Given the description of an element on the screen output the (x, y) to click on. 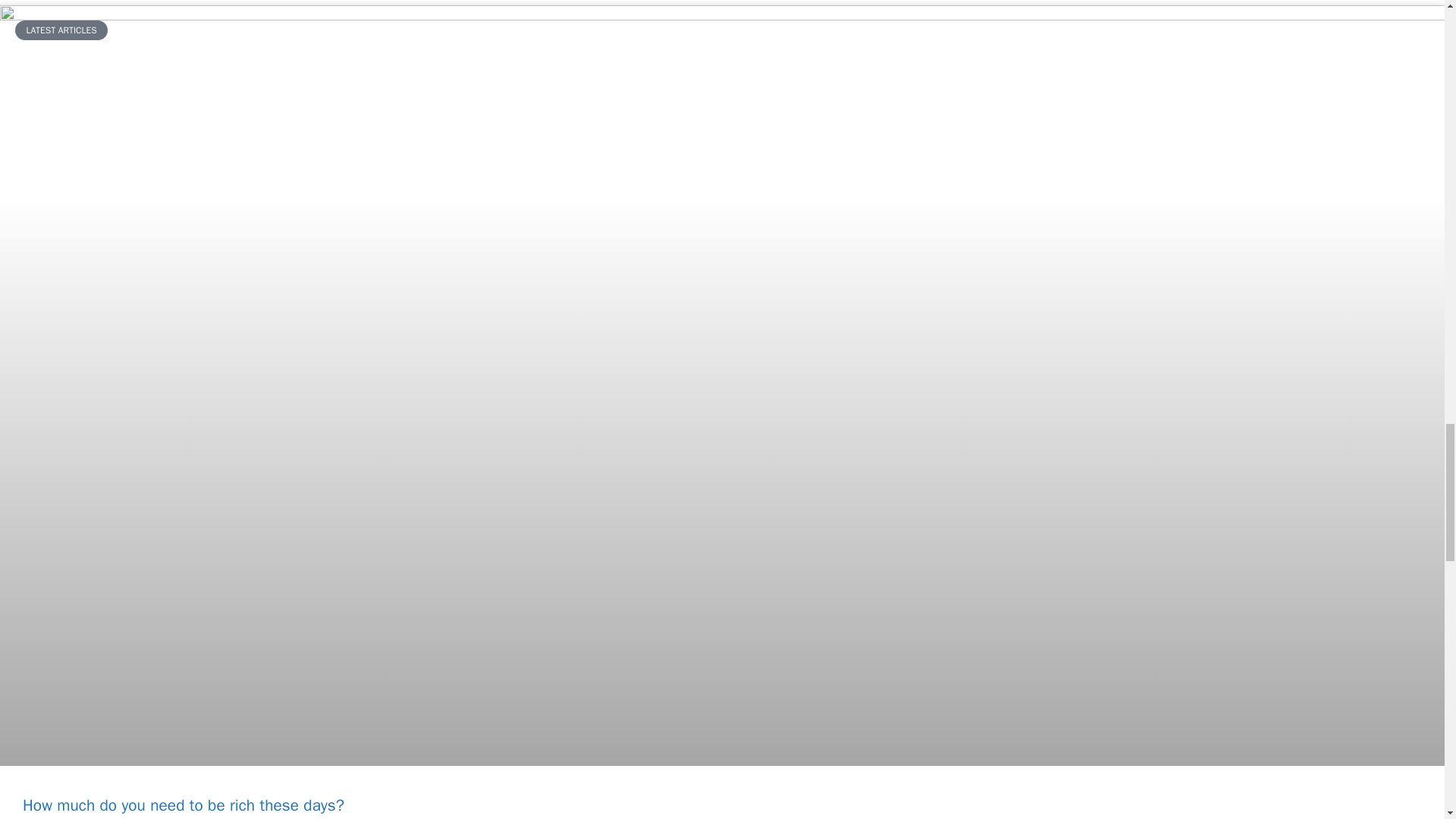
How much do you need to be rich these days? (183, 804)
